Given the description of an element on the screen output the (x, y) to click on. 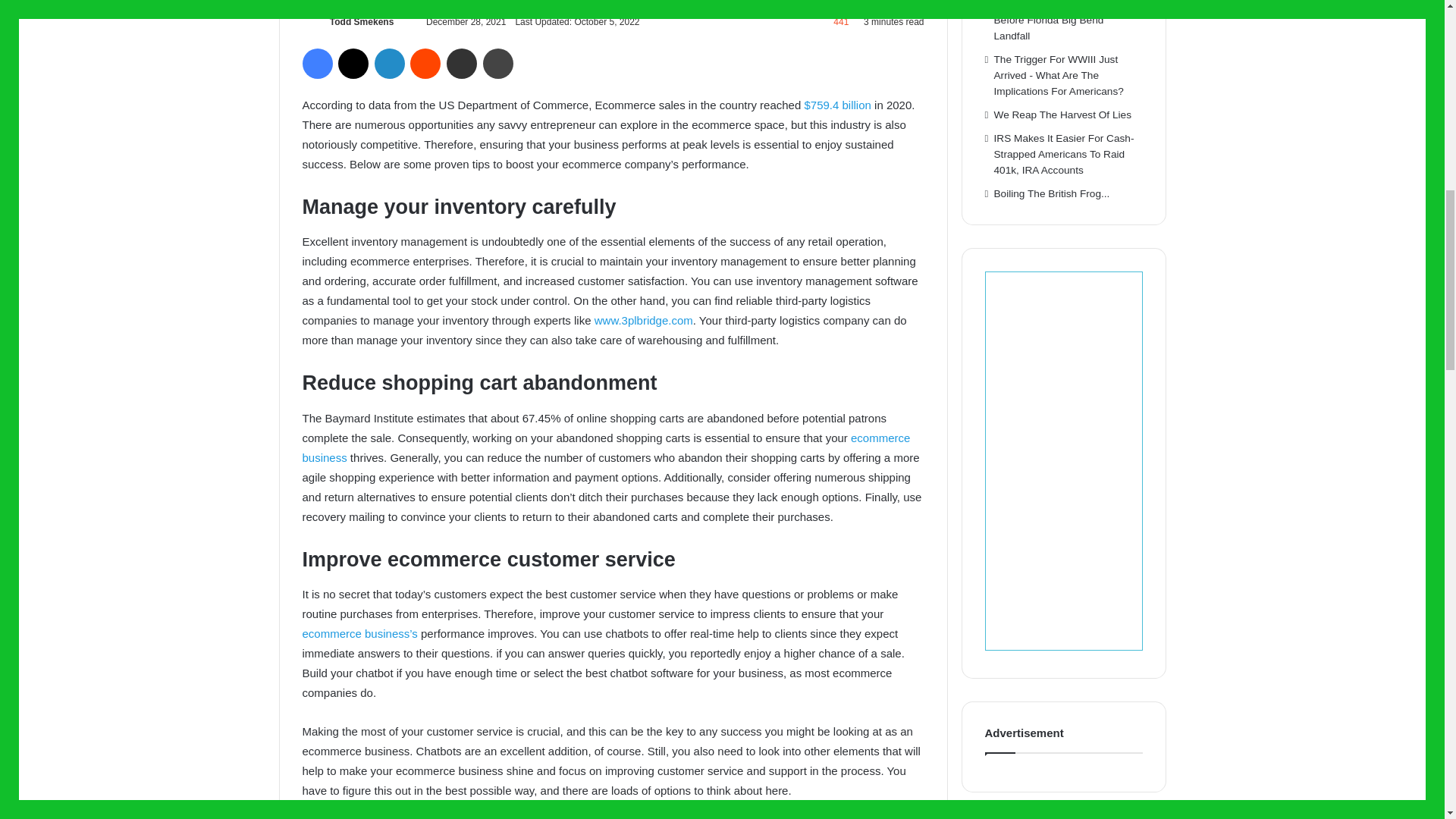
Todd Smekens (361, 21)
Facebook (316, 63)
Reddit (425, 63)
LinkedIn (389, 63)
Print (498, 63)
Facebook (316, 63)
LinkedIn (389, 63)
Print (498, 63)
Share via Email (461, 63)
Todd Smekens (361, 21)
X (352, 63)
Share via Email (461, 63)
Reddit (425, 63)
X (352, 63)
